Given the description of an element on the screen output the (x, y) to click on. 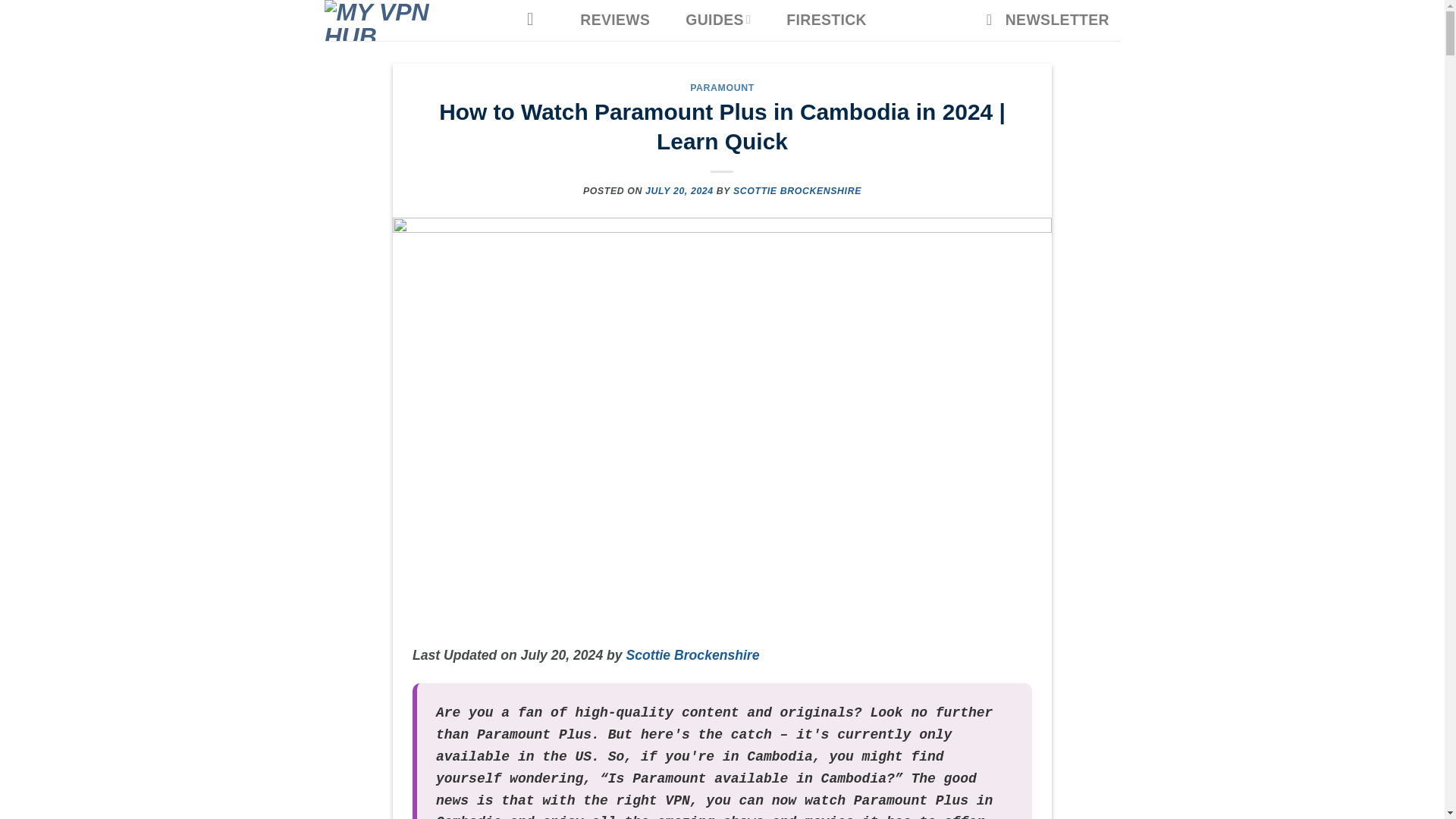
Scottie Brockenshire (693, 654)
NEWSLETTER (1047, 19)
My Vpn Hub - Best Vpn Reviews, Speed Tests and Comparisons (408, 20)
FIRESTICK (826, 19)
REVIEWS (615, 19)
Sign up for Newsletter (1047, 19)
JULY 20, 2024 (679, 190)
GUIDES (718, 19)
SCOTTIE BROCKENSHIRE (797, 190)
PARAMOUNT (722, 87)
